Given the description of an element on the screen output the (x, y) to click on. 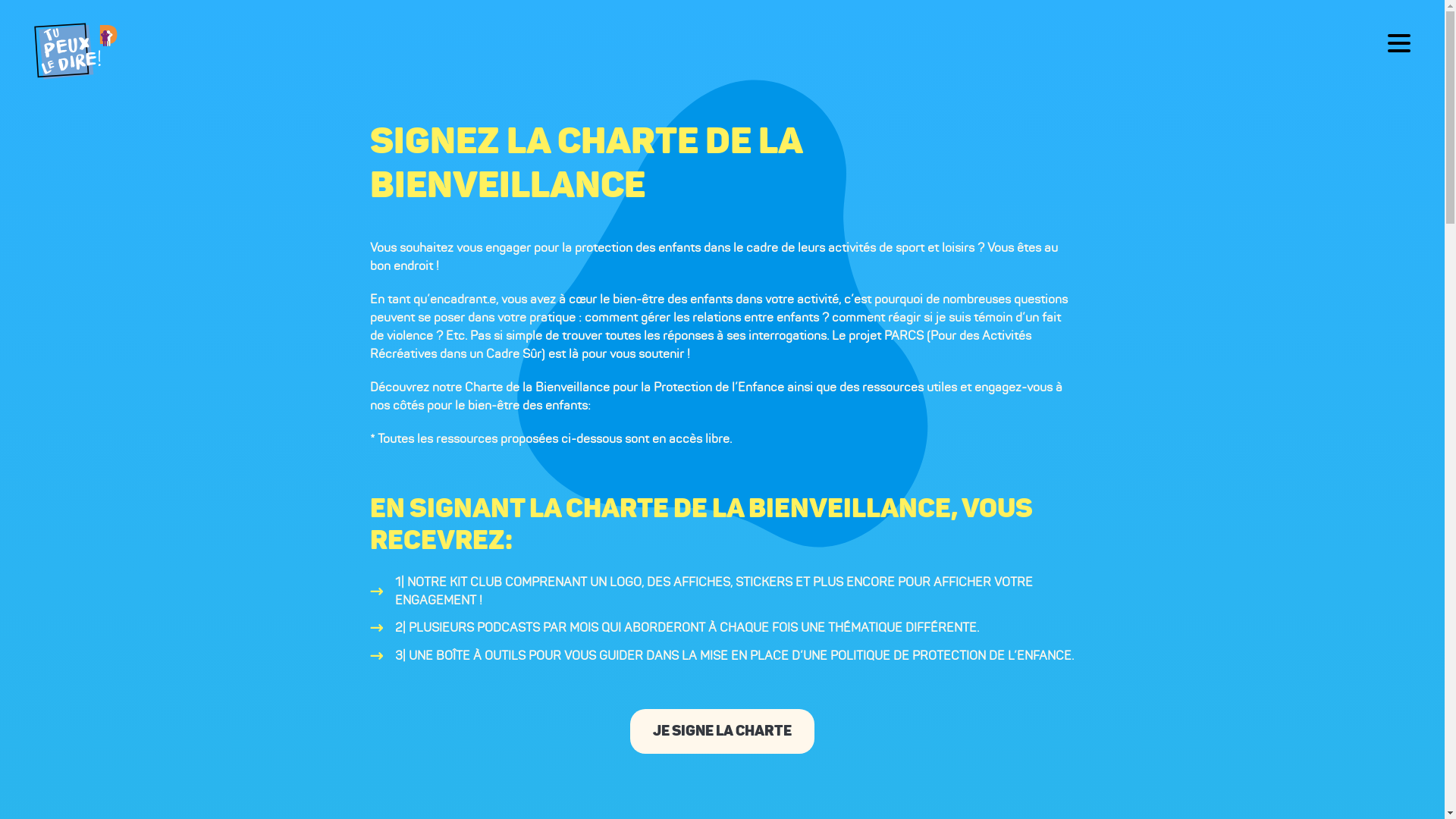
JE SIGNE LA CHARTE Element type: text (722, 731)
